Given the description of an element on the screen output the (x, y) to click on. 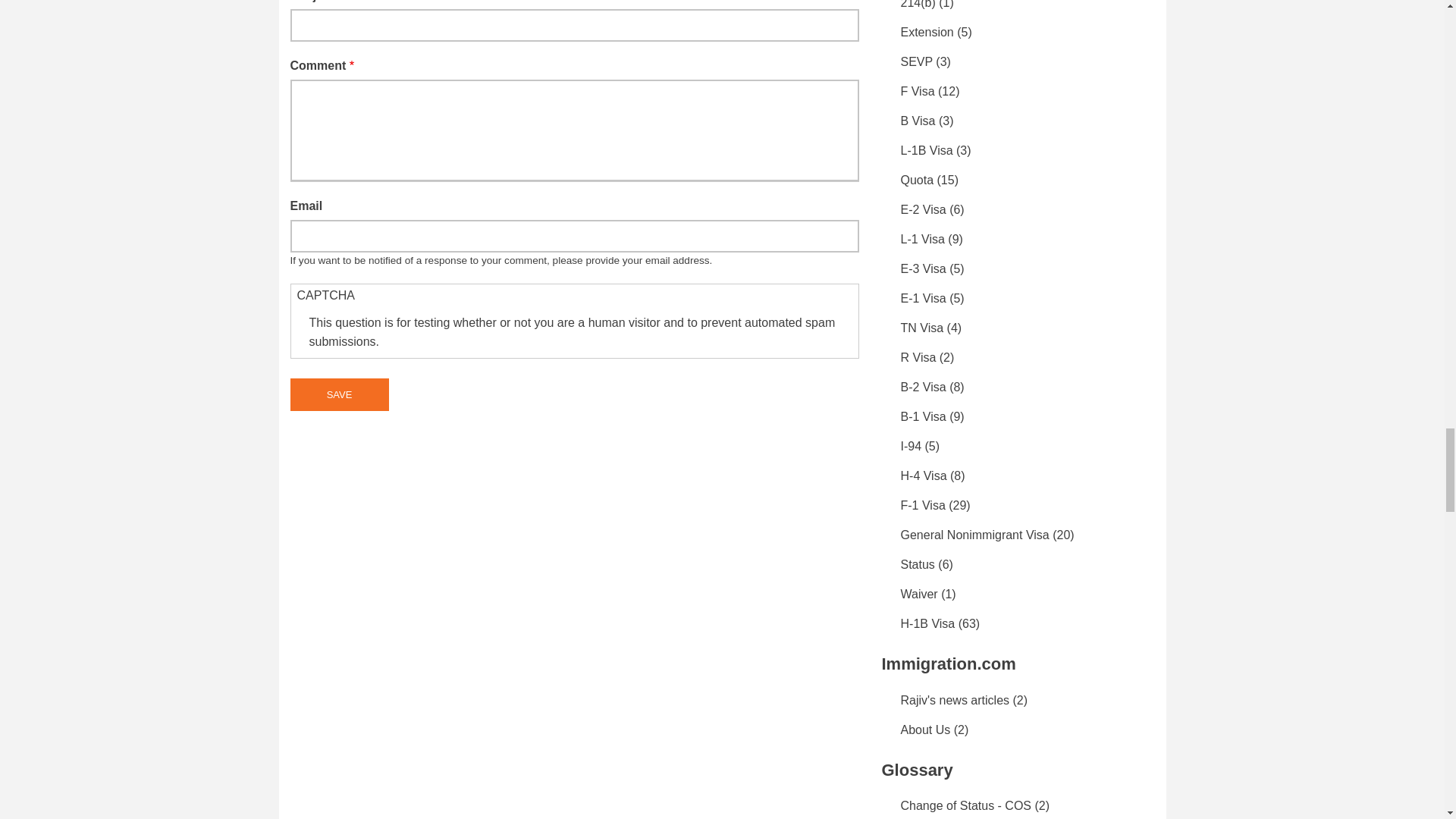
Save (338, 394)
